Given the description of an element on the screen output the (x, y) to click on. 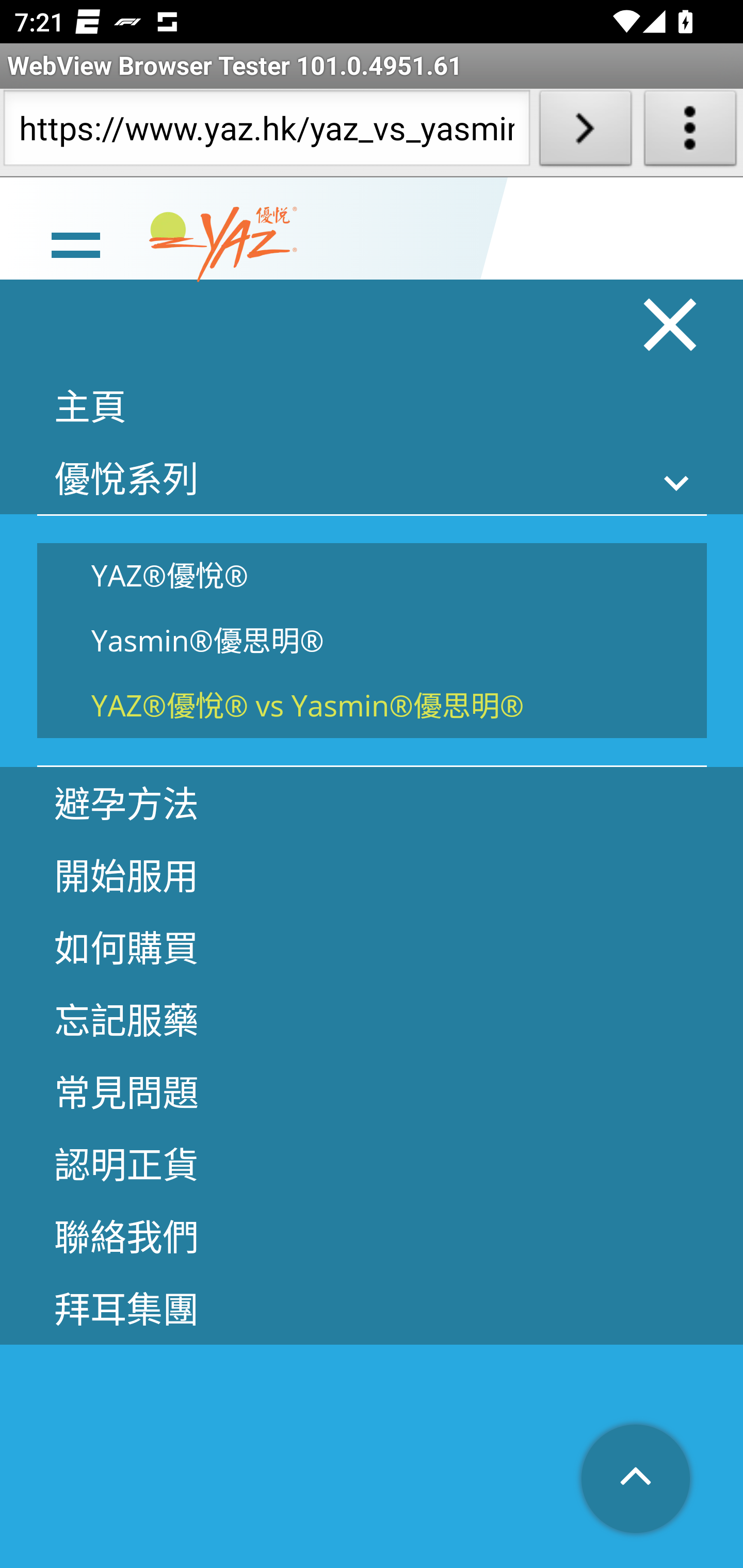
Load URL (585, 132)
About WebView (690, 132)
www.yaz (222, 244)
line Toggle burger menu (75, 245)
 Close burger menu (670, 325)
主頁 (371, 406)
優悅系列 (371, 478)
Toggle sub menu (677, 483)
YAZ®優悅® (372, 576)
Yasmin®優思明® (372, 641)
YAZ®優悅® vs Yasmin®優思明® (372, 707)
避孕方法 (371, 804)
開始服用 (371, 877)
如何購買 (371, 949)
忘記服藥 (371, 1021)
常見問題 (371, 1093)
認明正貨 (371, 1165)
聯絡我們 (371, 1237)
拜耳集團 (371, 1309)
 (636, 1480)
